Given the description of an element on the screen output the (x, y) to click on. 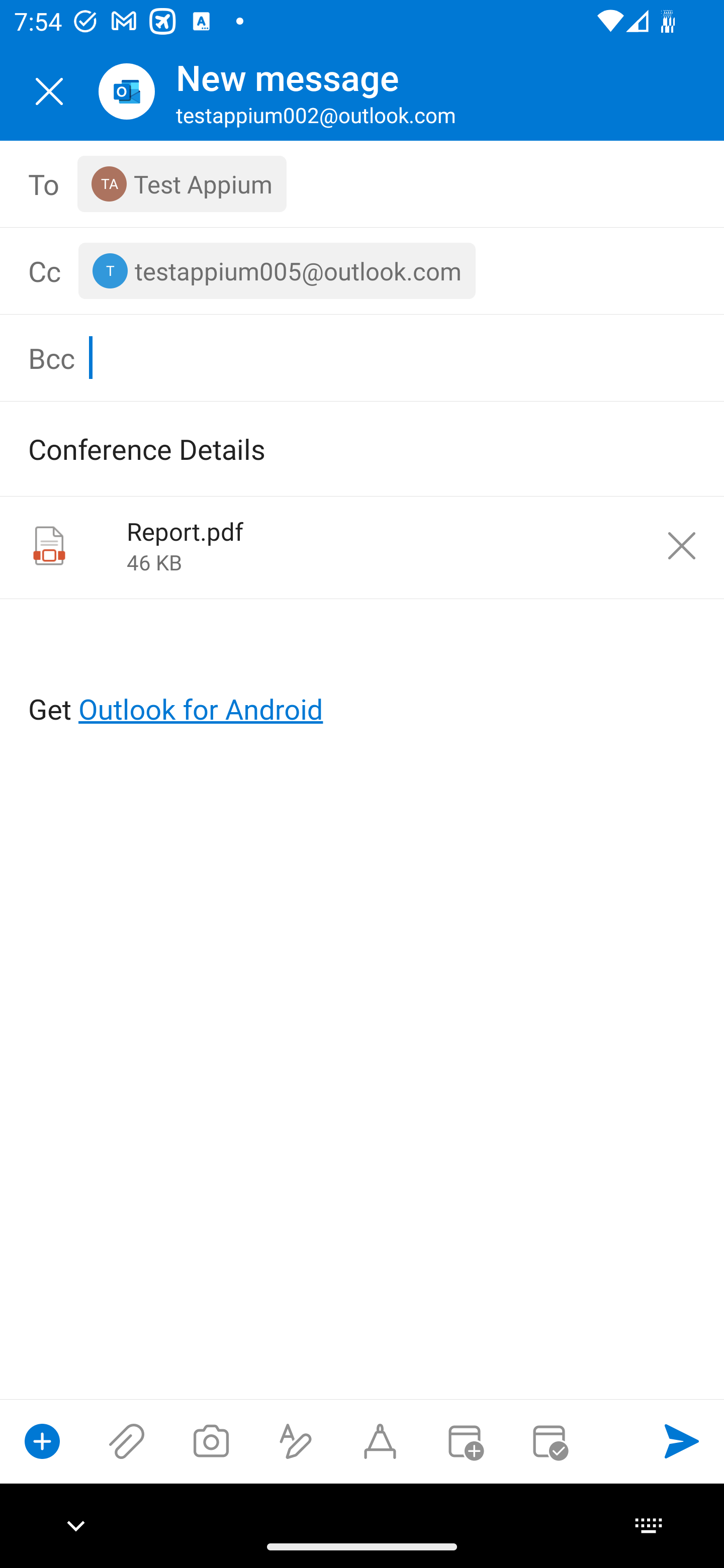
Close (49, 91)
Conference Details (333, 448)
Report.pdf 46 KB Remove attachment Report.pdf (362, 547)
Remove attachment Report.pdf (681, 545)


Get Outlook for Android (363, 676)
Show compose options (42, 1440)
Attach files (126, 1440)
Take a photo (210, 1440)
Show formatting options (295, 1440)
Start Ink compose (380, 1440)
Convert to event (464, 1440)
Send availability (548, 1440)
Send (681, 1440)
